Given the description of an element on the screen output the (x, y) to click on. 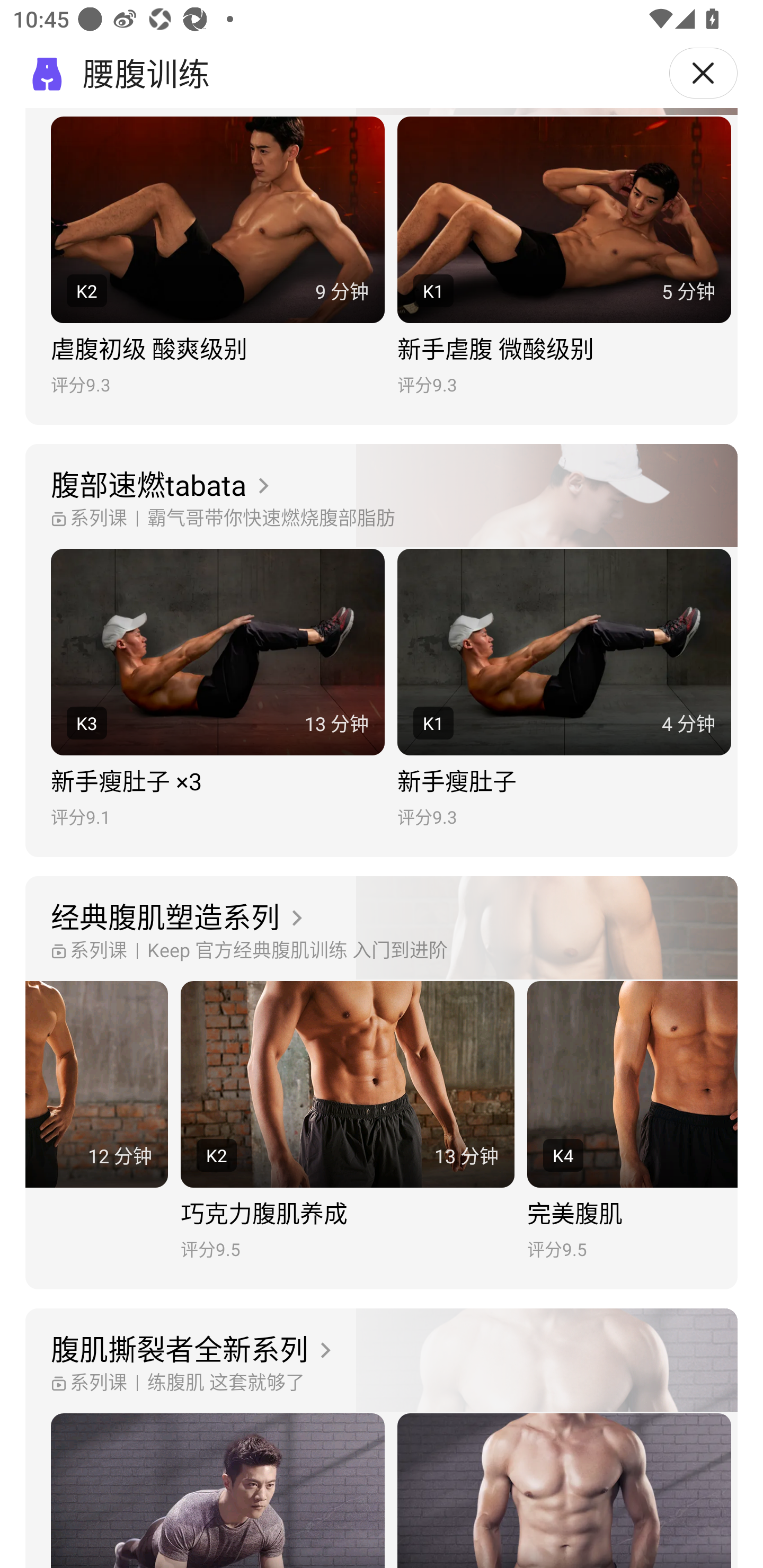
K2 9 分钟 虐腹初级 酸爽级别 评分9.3 (217, 256)
K1 5 分钟 新手虐腹 微酸级别 评分9.3 (563, 256)
腹部速燃tabata 系列课 霸气哥带你快速燃烧腹部脂肪 (381, 495)
K3 13 分钟 新手瘦肚子 ×3 评分9.1 (217, 687)
K1 4 分钟 新手瘦肚子 评分9.3 (563, 687)
经典腹肌塑造系列 系列课 Keep 官方经典腹肌训练 入门到进阶 (381, 928)
K2 13 分钟 巧克力腹肌养成 评分9.5 (347, 1120)
K4 完美腹肌 评分9.5 (632, 1120)
腹肌撕裂者全新系列 系列课 练腹肌 这套就够了 (381, 1359)
